Given the description of an element on the screen output the (x, y) to click on. 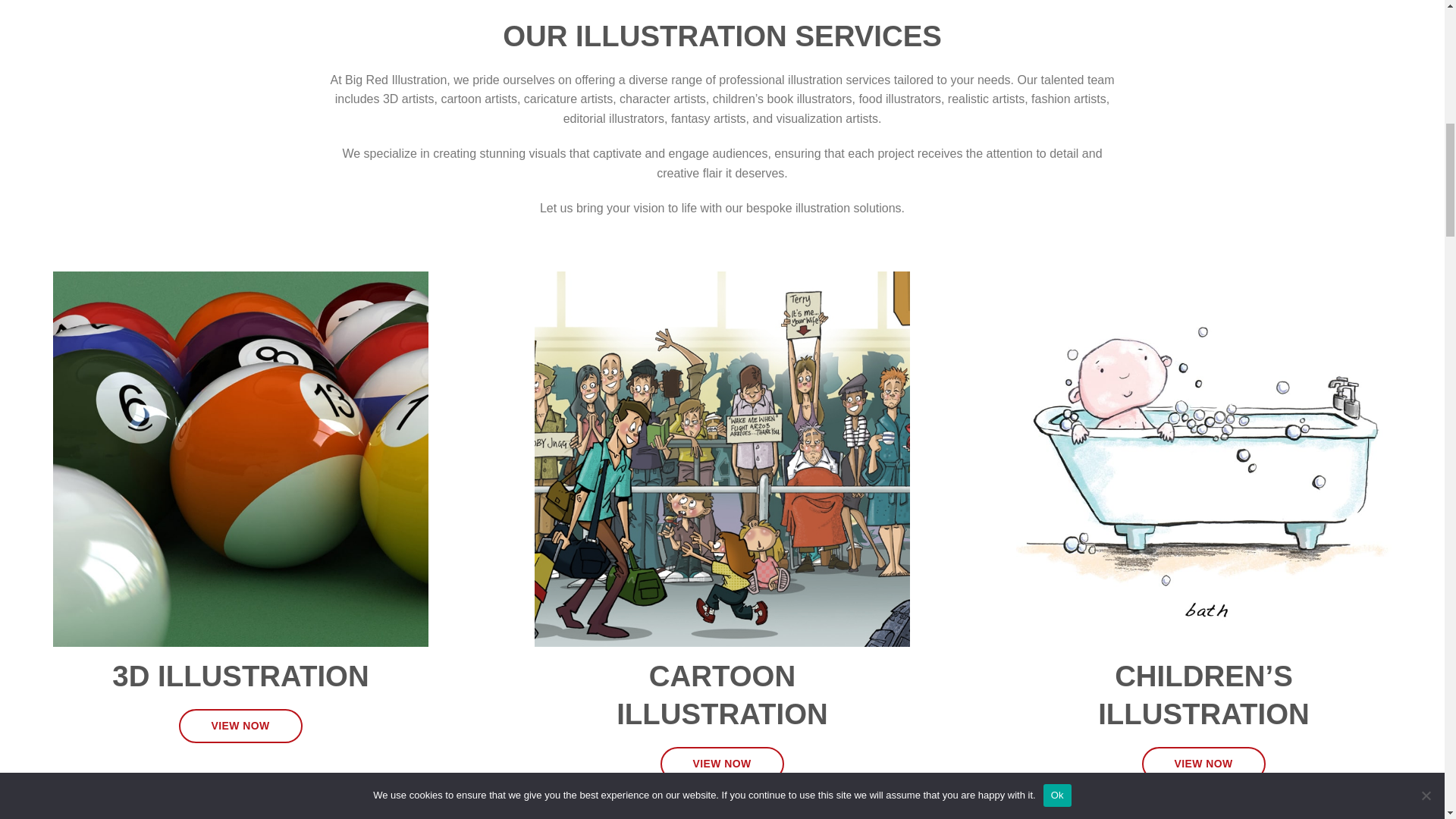
VIEW NOW (240, 725)
VIEW NOW (1203, 763)
VIEW NOW (722, 763)
